Given the description of an element on the screen output the (x, y) to click on. 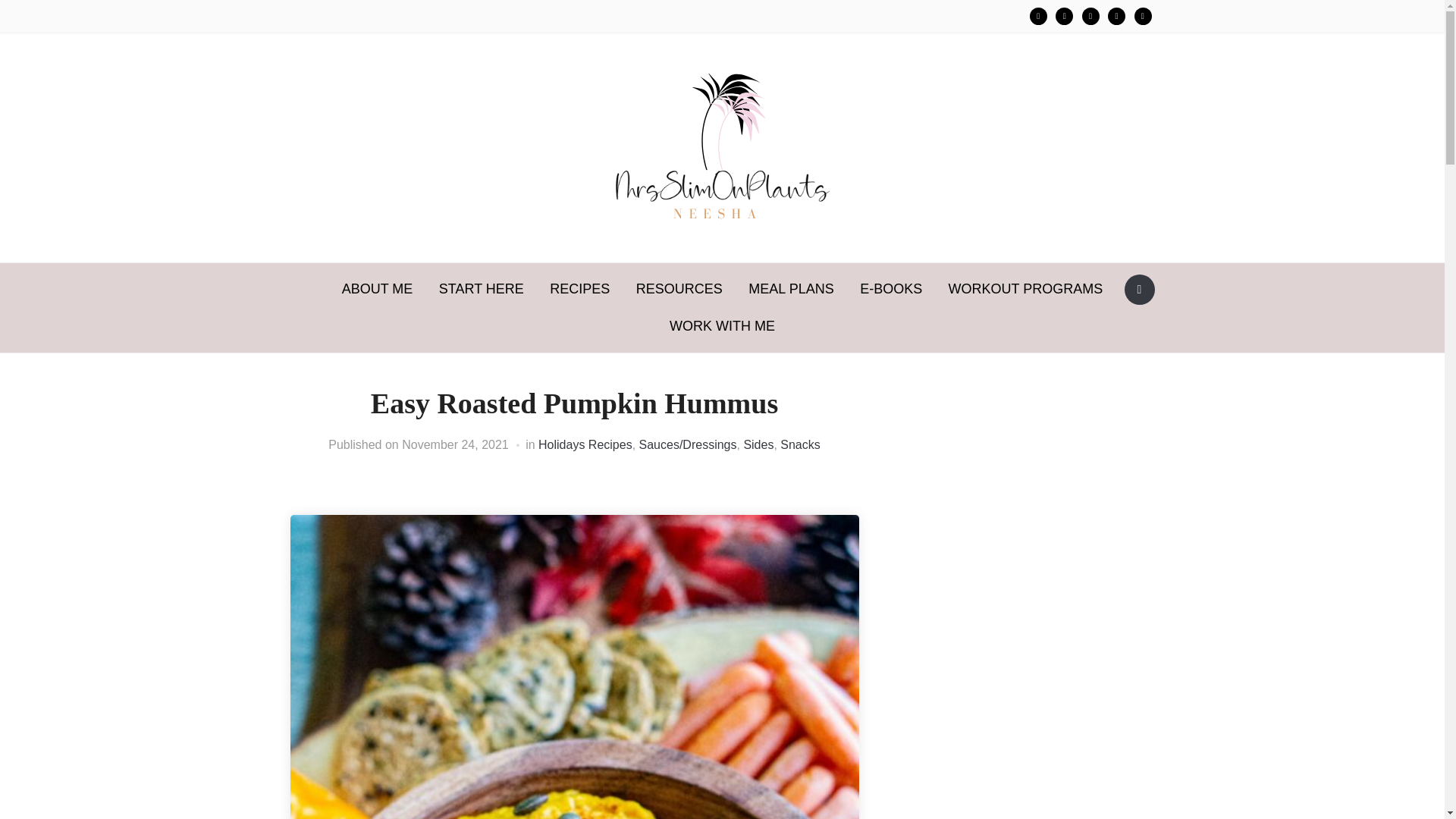
facebook (1116, 15)
Default Label (1142, 15)
youtube-square (1142, 15)
Default Label (1090, 15)
pinterest (1064, 15)
Twitter (1064, 15)
Default Label (1116, 15)
instagram (1037, 15)
Facebook (1037, 15)
tiktok (1090, 15)
